Given the description of an element on the screen output the (x, y) to click on. 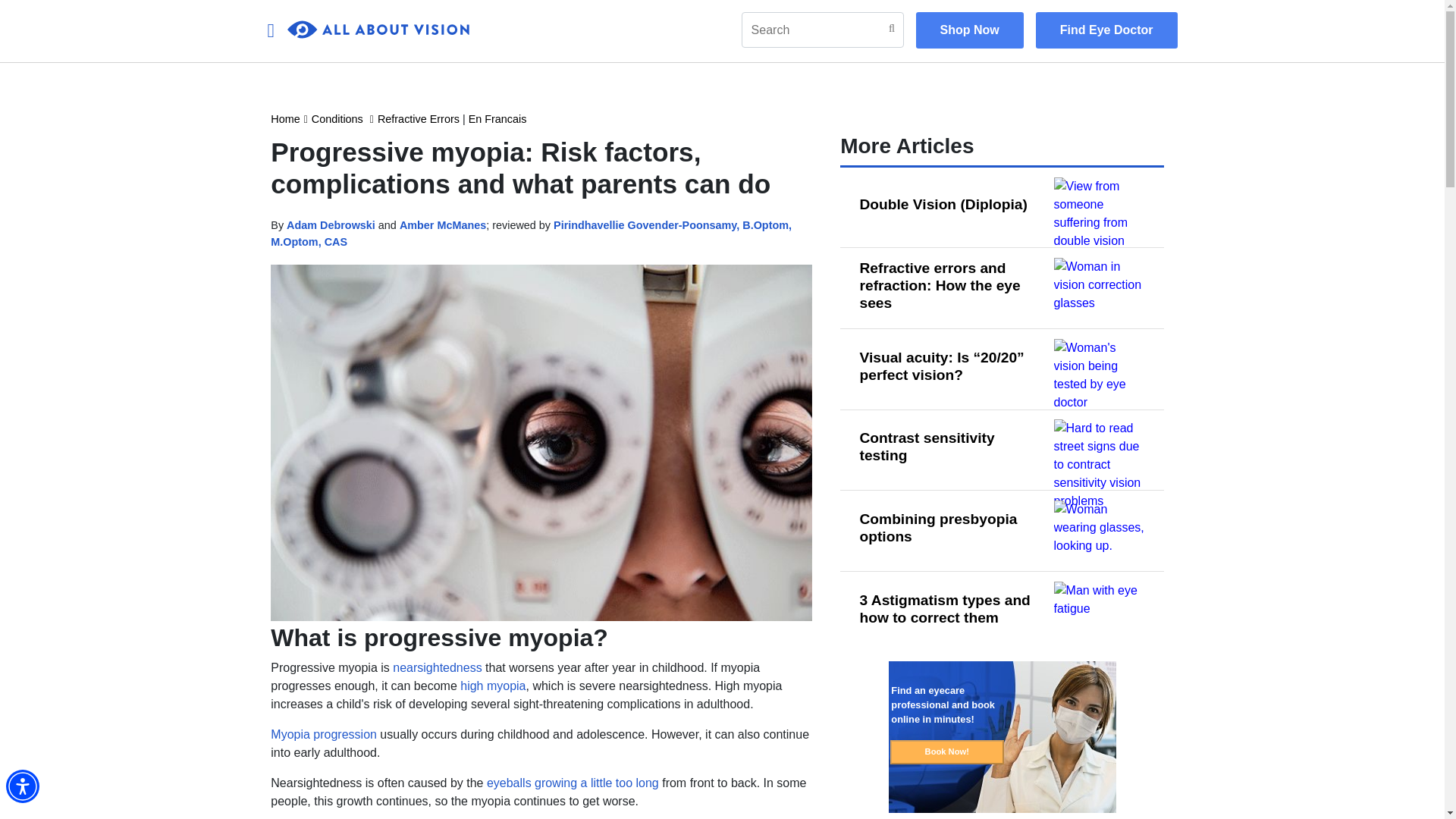
Shop Now (969, 30)
Find Eye Doctor (1106, 30)
high myopia (492, 685)
Accessibility Menu (22, 786)
0 (377, 30)
nearsightedness (437, 667)
eyeballs growing a little too long (572, 782)
Myopia progression (323, 734)
0 (377, 29)
